Given the description of an element on the screen output the (x, y) to click on. 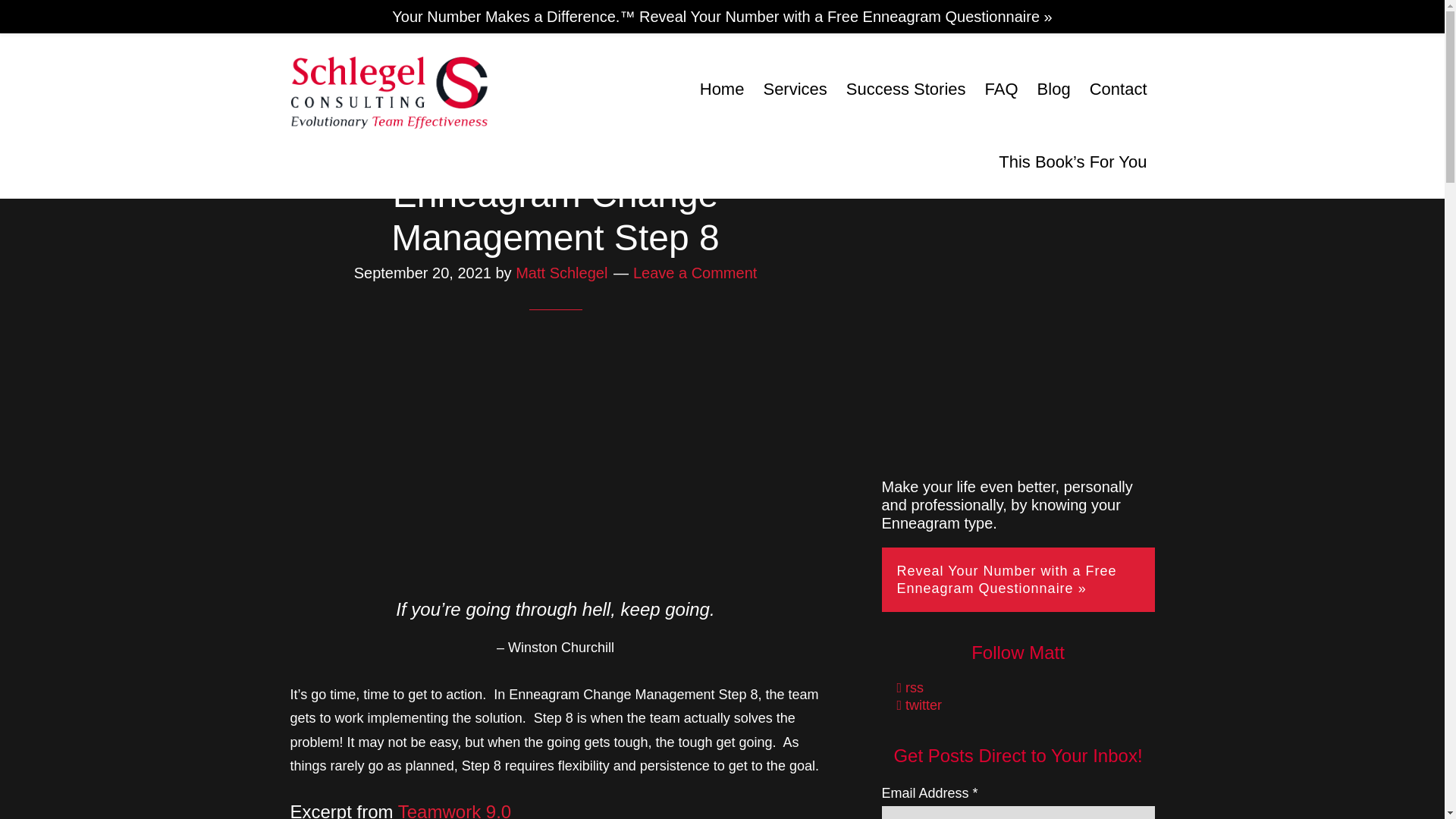
Teamwork 9.0 (454, 810)
rss (909, 687)
Success Stories (906, 89)
Services (794, 89)
Leave a Comment (695, 272)
twitter (919, 704)
Matt Schlegel (561, 272)
SCHLEGEL CONSULTING (388, 90)
Contact (1117, 89)
